Given the description of an element on the screen output the (x, y) to click on. 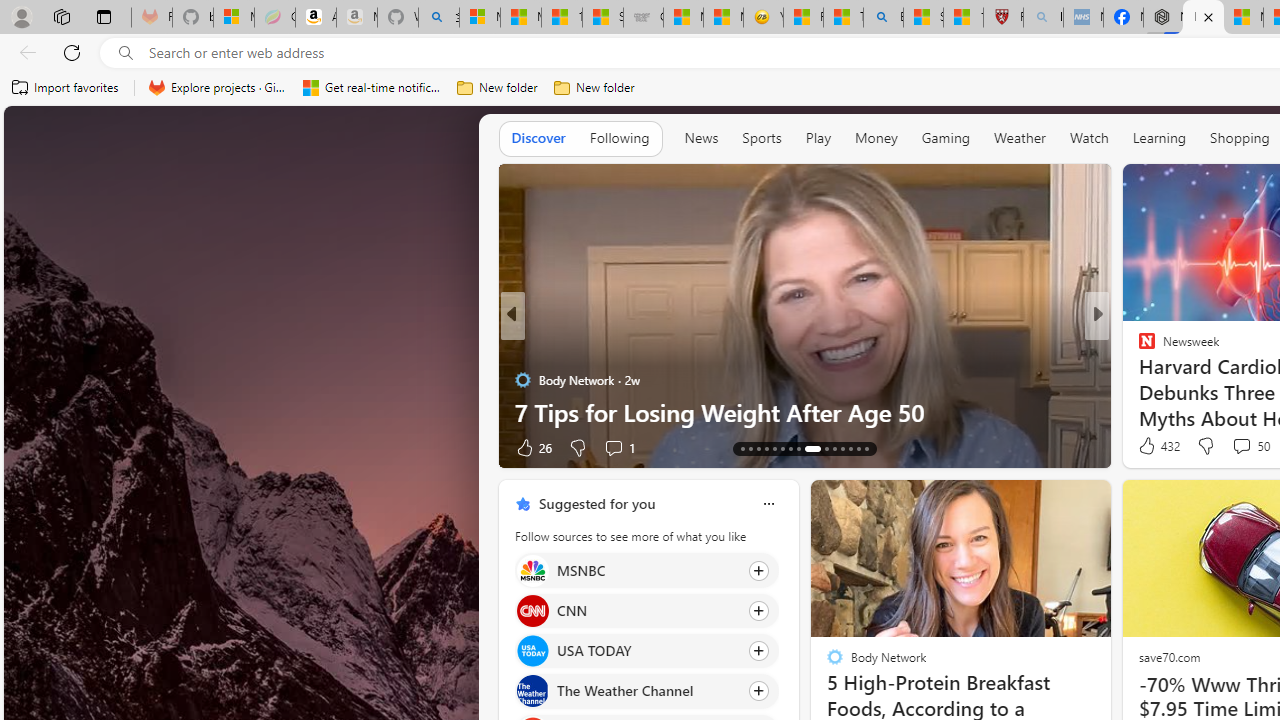
AutomationID: tab-72 (789, 448)
22 Like (1149, 447)
list of asthma inhalers uk - Search - Sleeping (1043, 17)
1 Like (1145, 447)
AutomationID: tab-81 (865, 448)
INSIDER (1138, 347)
Click to follow source MSNBC (646, 570)
AutomationID: tab-71 (782, 448)
182 Like (1151, 447)
432 Like (1157, 446)
Weather (1020, 137)
Learning (1159, 137)
AutomationID: tab-70 (774, 448)
